Given the description of an element on the screen output the (x, y) to click on. 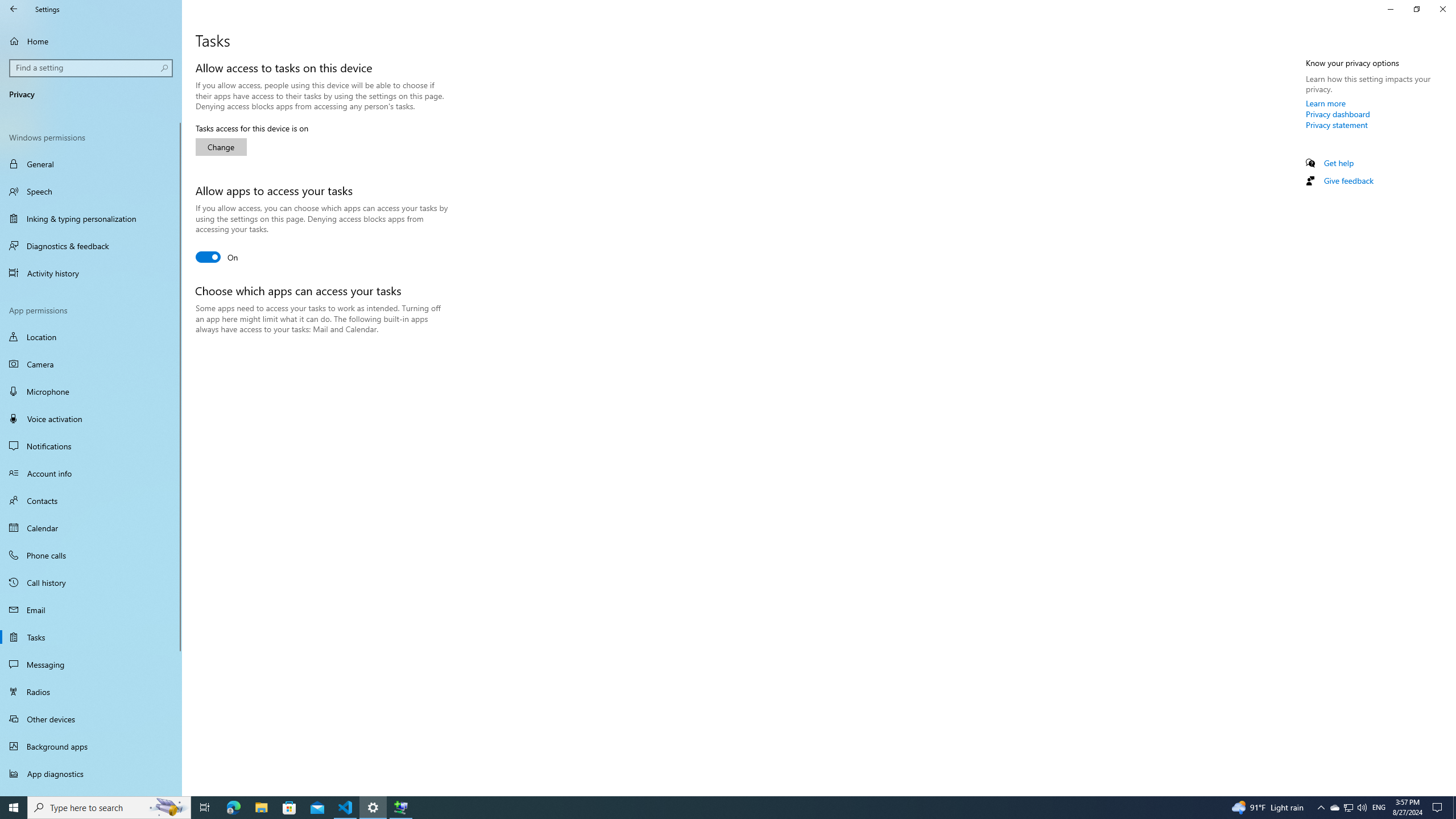
Extensible Wizards Host Process - 1 running window (400, 807)
Account info (91, 472)
Background apps (91, 746)
Give feedback (1348, 180)
Speech (91, 190)
Inking & typing personalization (91, 217)
Diagnostics & feedback (91, 245)
Tray Input Indicator - English (United States) (1378, 807)
Search box, Find a setting (91, 67)
Location (91, 336)
Privacy statement (1336, 124)
